Given the description of an element on the screen output the (x, y) to click on. 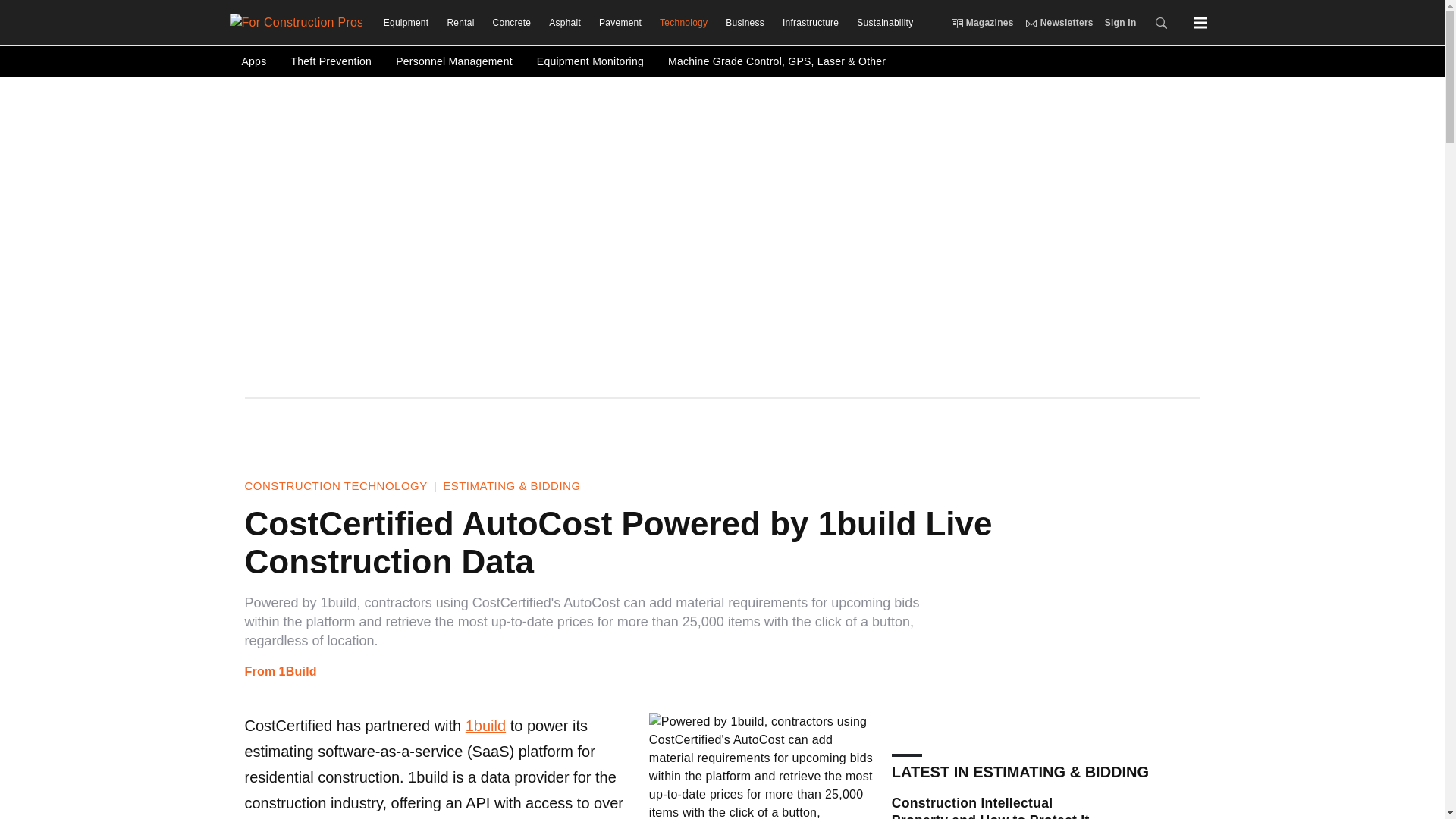
Asphalt (564, 22)
Equipment (406, 22)
Infrastructure (810, 22)
Magazines (956, 22)
Technology (683, 22)
Theft Prevention (330, 61)
Equipment Monitoring (590, 61)
Pavement (619, 22)
Newsletters (1030, 22)
Personnel Management (454, 61)
